Given the description of an element on the screen output the (x, y) to click on. 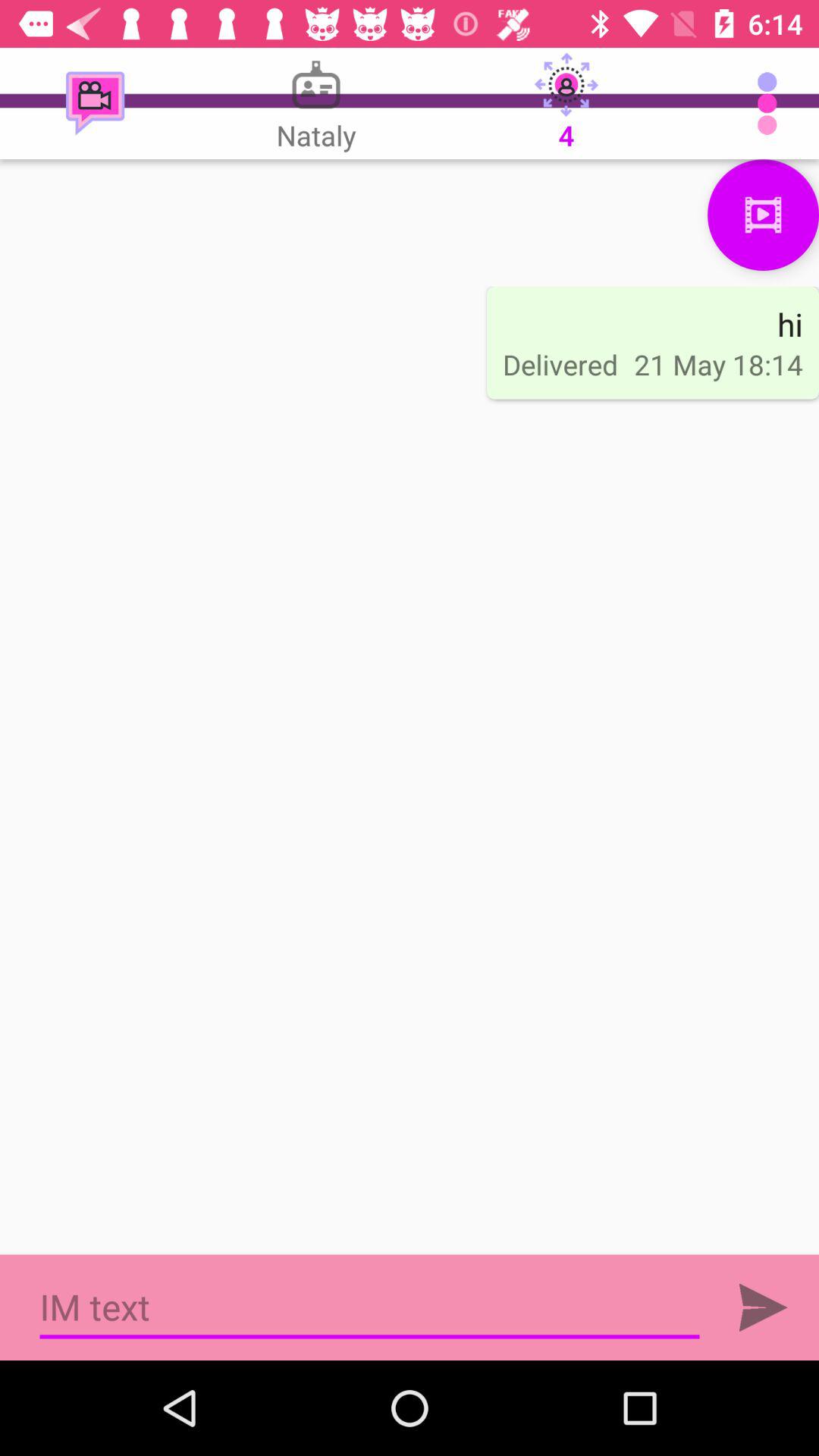
play video (763, 214)
